Given the description of an element on the screen output the (x, y) to click on. 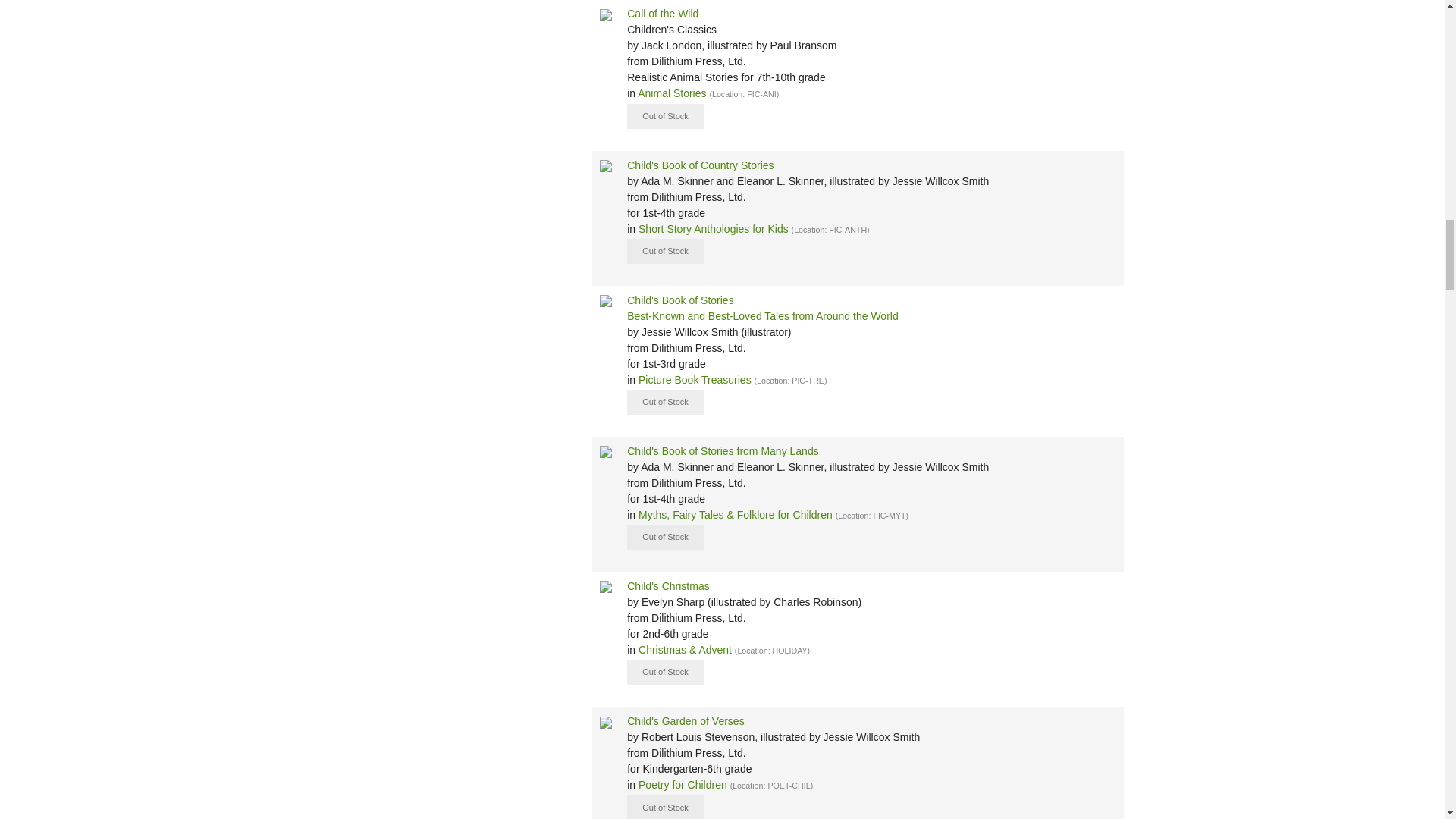
Out of Stock (665, 251)
Out of Stock (665, 401)
Out of Stock (665, 116)
Out of Stock (665, 536)
